Given the description of an element on the screen output the (x, y) to click on. 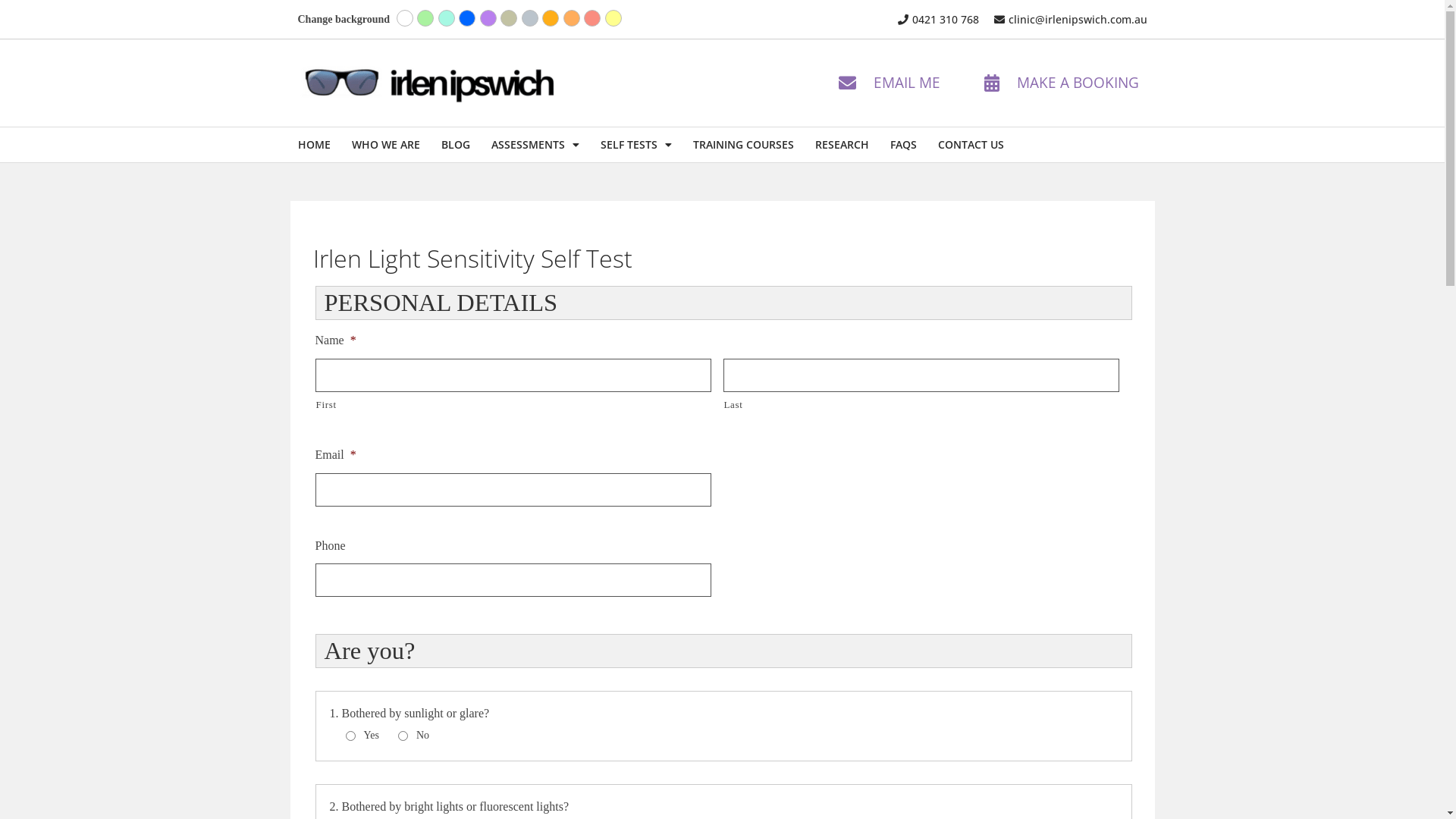
ASSESSMENTS Element type: text (535, 144)
MAKE A BOOKING Element type: text (1058, 82)
FAQS Element type: text (903, 144)
0421 310 768 Element type: text (936, 19)
EMAIL ME Element type: text (887, 82)
BLOG Element type: text (455, 144)
RESEARCH Element type: text (841, 144)
CONTACT US Element type: text (970, 144)
HOME Element type: text (313, 144)
SELF TESTS Element type: text (635, 144)
WHO WE ARE Element type: text (385, 144)
TRAINING COURSES Element type: text (743, 144)
clinic@irlenipswich.com.au Element type: text (1069, 19)
